Given the description of an element on the screen output the (x, y) to click on. 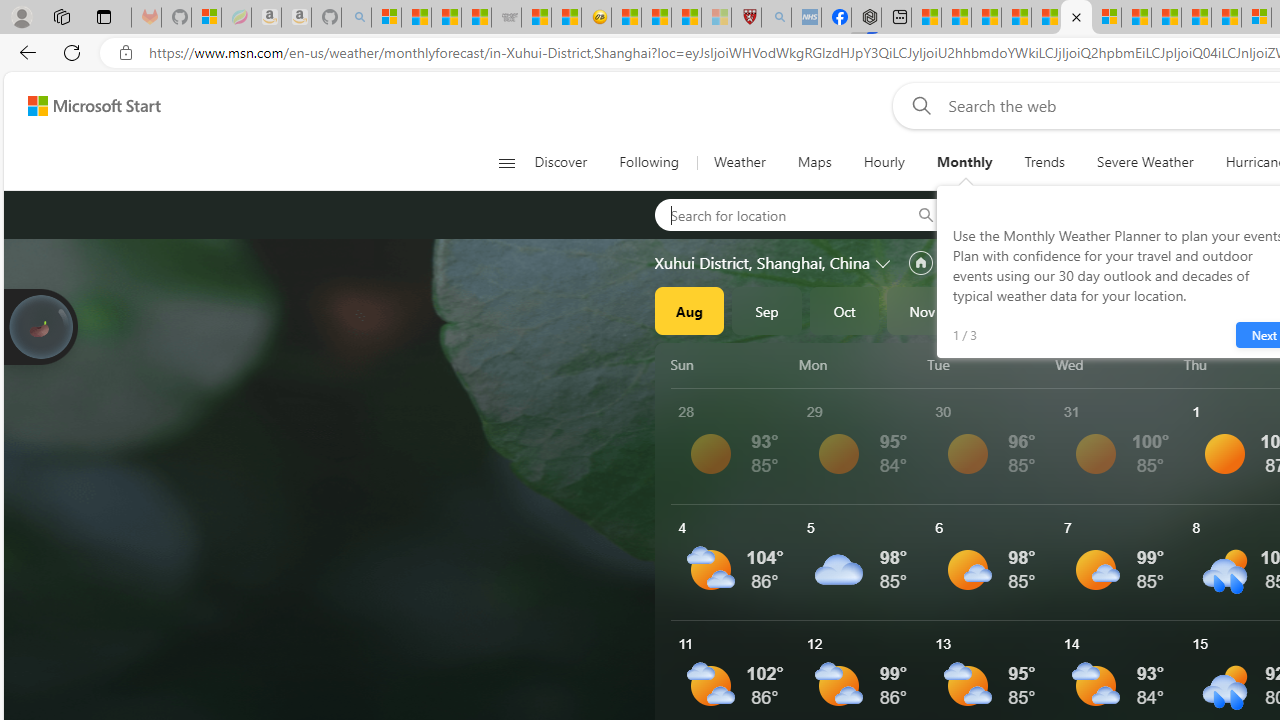
Stocks - MSN (476, 17)
Severe Weather (1145, 162)
Join us in planting real trees to help our planet! (40, 327)
Dec (1000, 310)
Nov (922, 310)
